Given the description of an element on the screen output the (x, y) to click on. 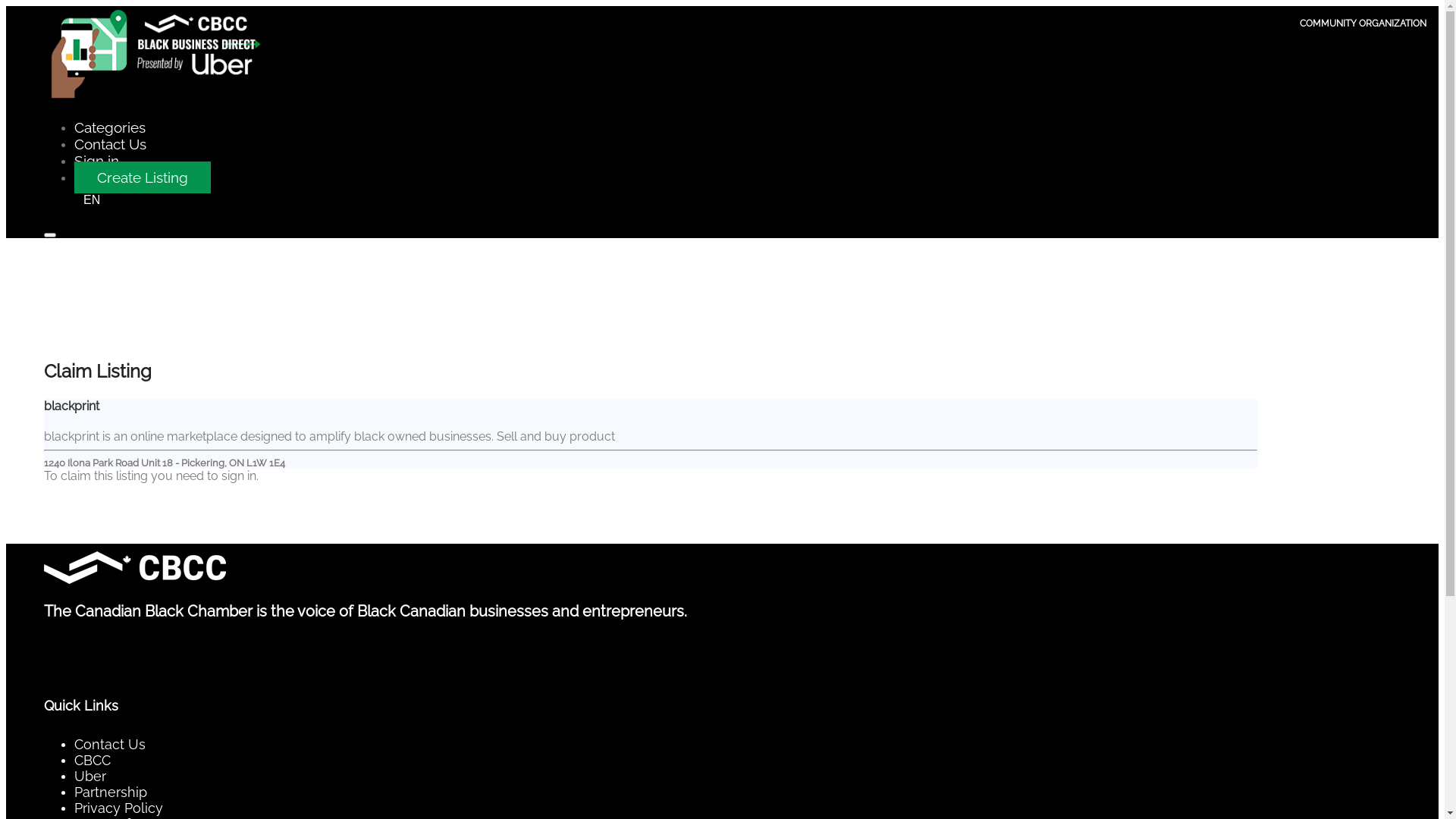
Categories Element type: text (109, 127)
Partnership Element type: text (110, 792)
Create Listing Element type: text (142, 177)
CBCC Element type: text (92, 760)
Contact Us Element type: text (110, 143)
blackprint Element type: text (71, 405)
Privacy Policy Element type: text (118, 807)
Contact Us Element type: text (109, 744)
Uber Element type: text (90, 776)
Sign in Element type: text (96, 160)
